Given the description of an element on the screen output the (x, y) to click on. 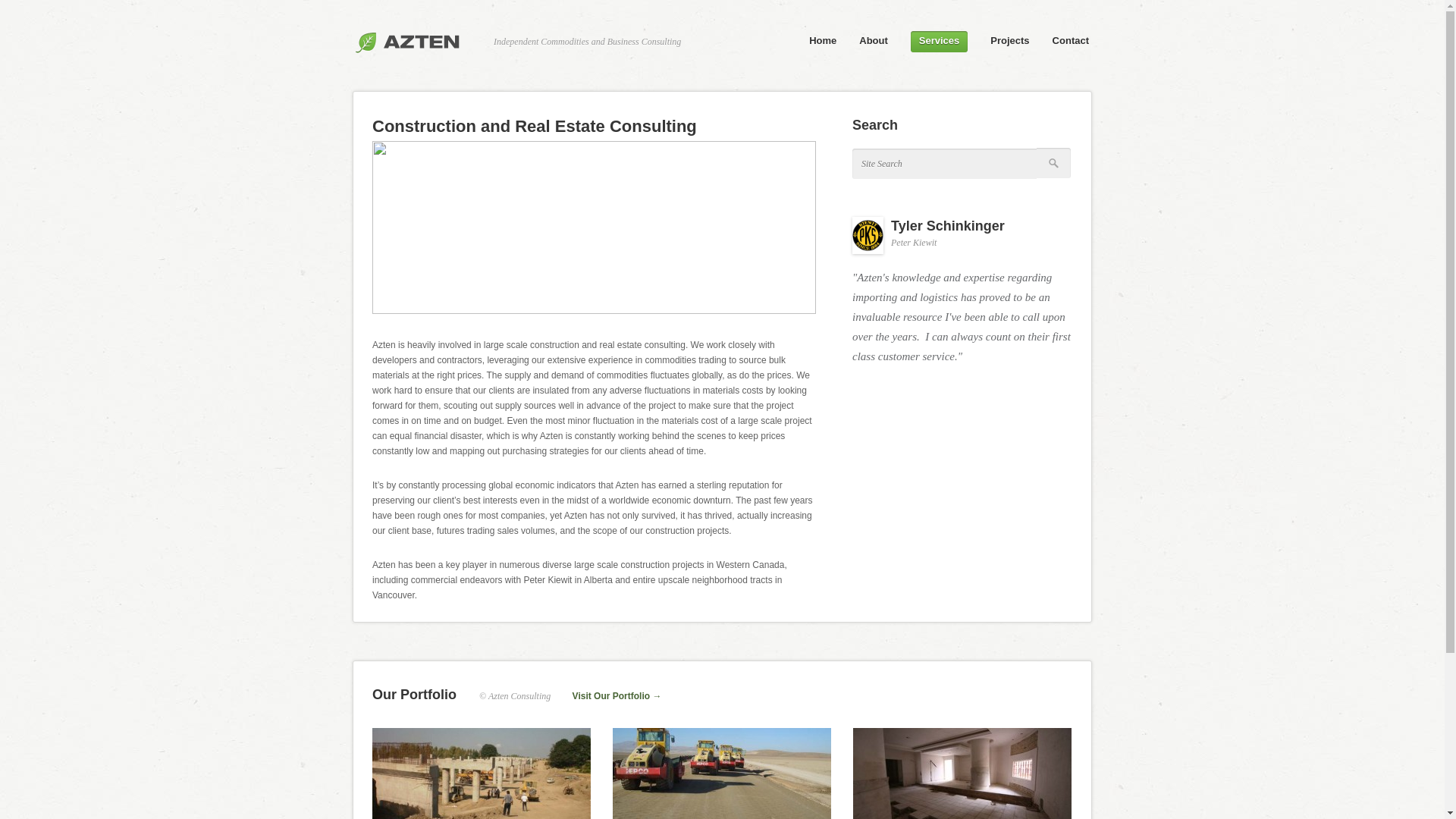
constra Element type: hover (593, 227)
About Element type: text (873, 41)
Projects Element type: text (1009, 41)
Services Element type: text (943, 41)
  Element type: text (1053, 162)
Home Element type: text (822, 41)
Contact Element type: text (1070, 41)
